Given the description of an element on the screen output the (x, y) to click on. 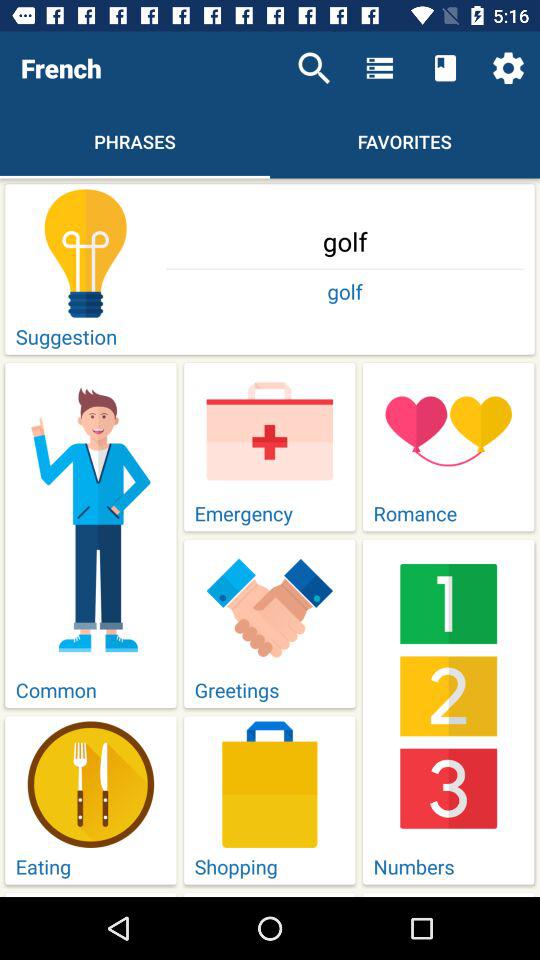
press item next to the french icon (313, 67)
